Given the description of an element on the screen output the (x, y) to click on. 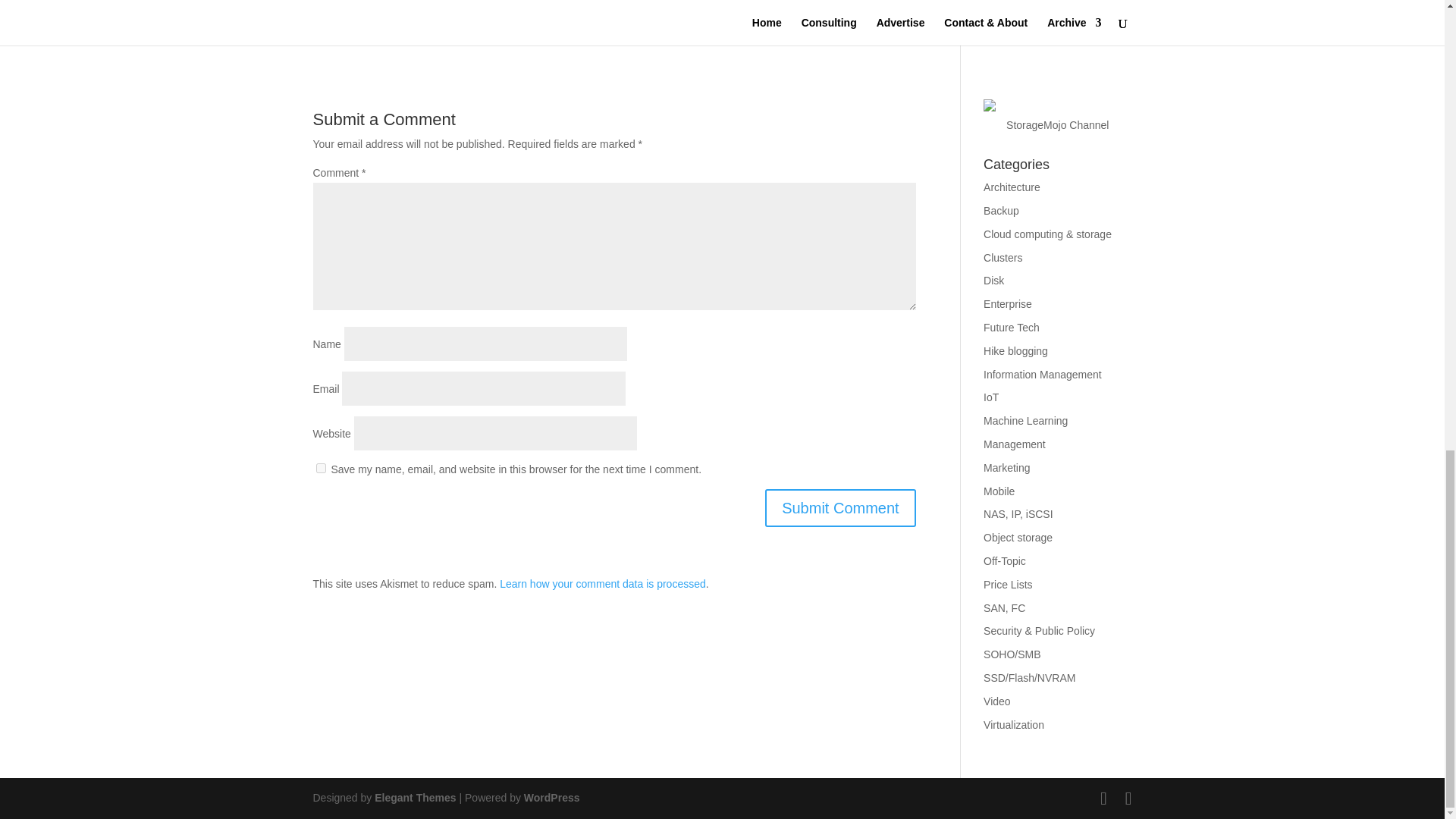
Submit Comment (840, 507)
Learn how your comment data is processed (602, 583)
yes (319, 468)
Submit Comment (840, 507)
Premium WordPress Themes (414, 797)
